Given the description of an element on the screen output the (x, y) to click on. 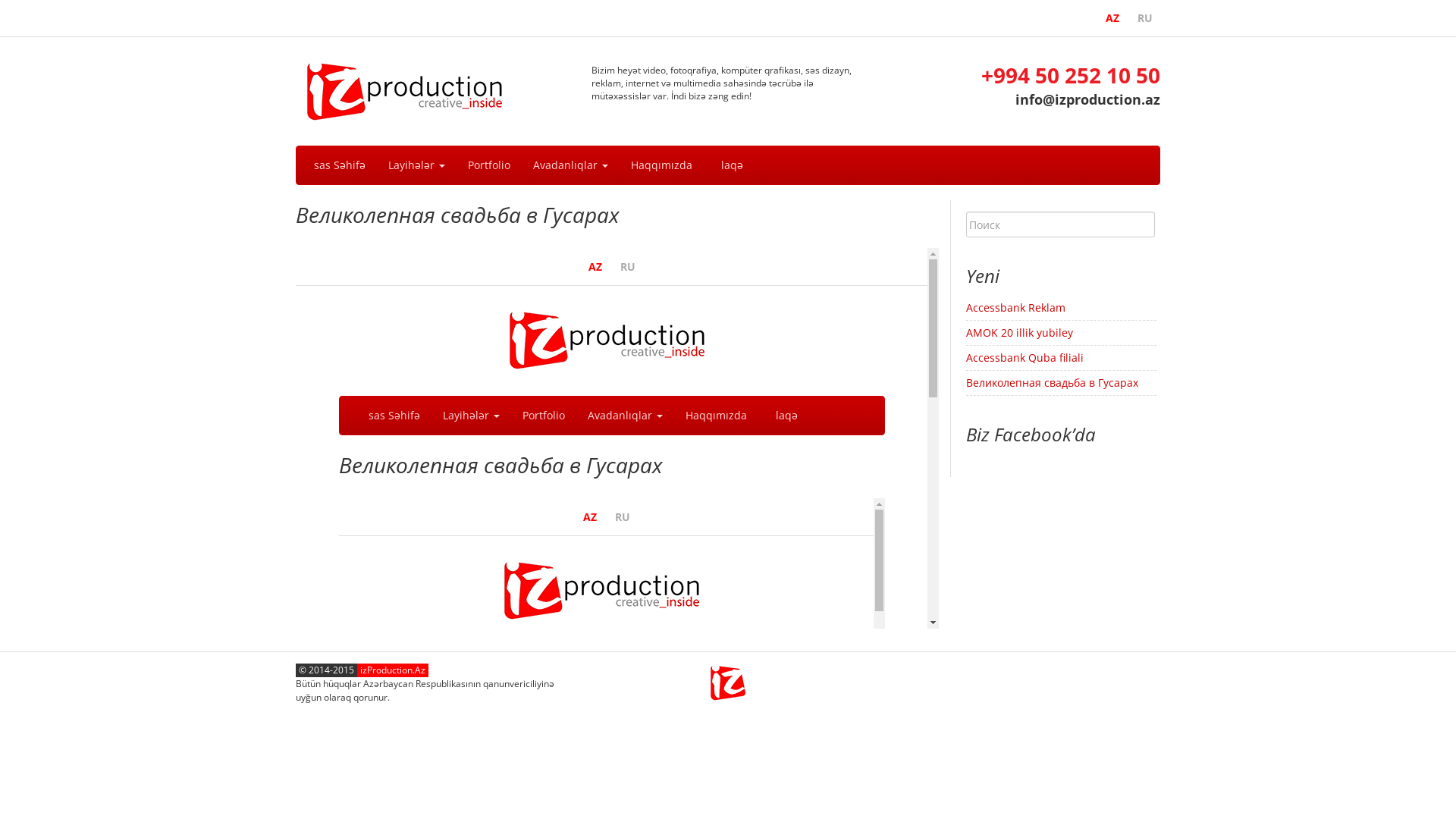
izProduction.Az Element type: hover (727, 682)
Portfolio Element type: text (488, 165)
Accessbank Reklam Element type: text (1015, 307)
RU Element type: text (1144, 18)
AMOK 20 illik yubiley Element type: text (1019, 332)
Accessbank Quba filiali Element type: text (1024, 357)
izProduction.Az Element type: text (392, 670)
AZ Element type: text (1112, 18)
izProduction.Az Element type: hover (409, 89)
